Given the description of an element on the screen output the (x, y) to click on. 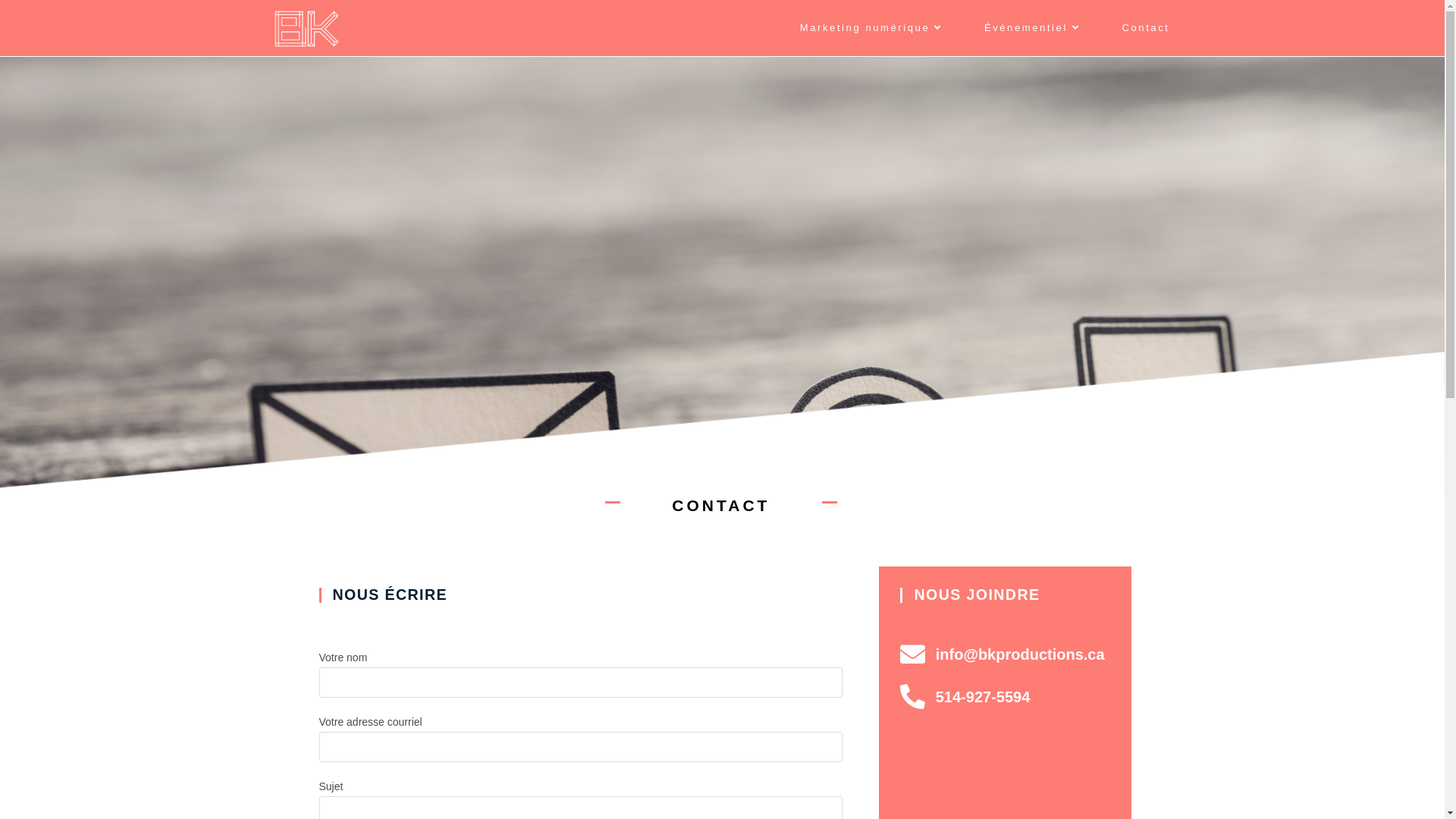
info@bkproductions.ca Element type: text (1005, 654)
Contact Element type: text (1145, 28)
514-927-5594 Element type: text (1005, 696)
